Given the description of an element on the screen output the (x, y) to click on. 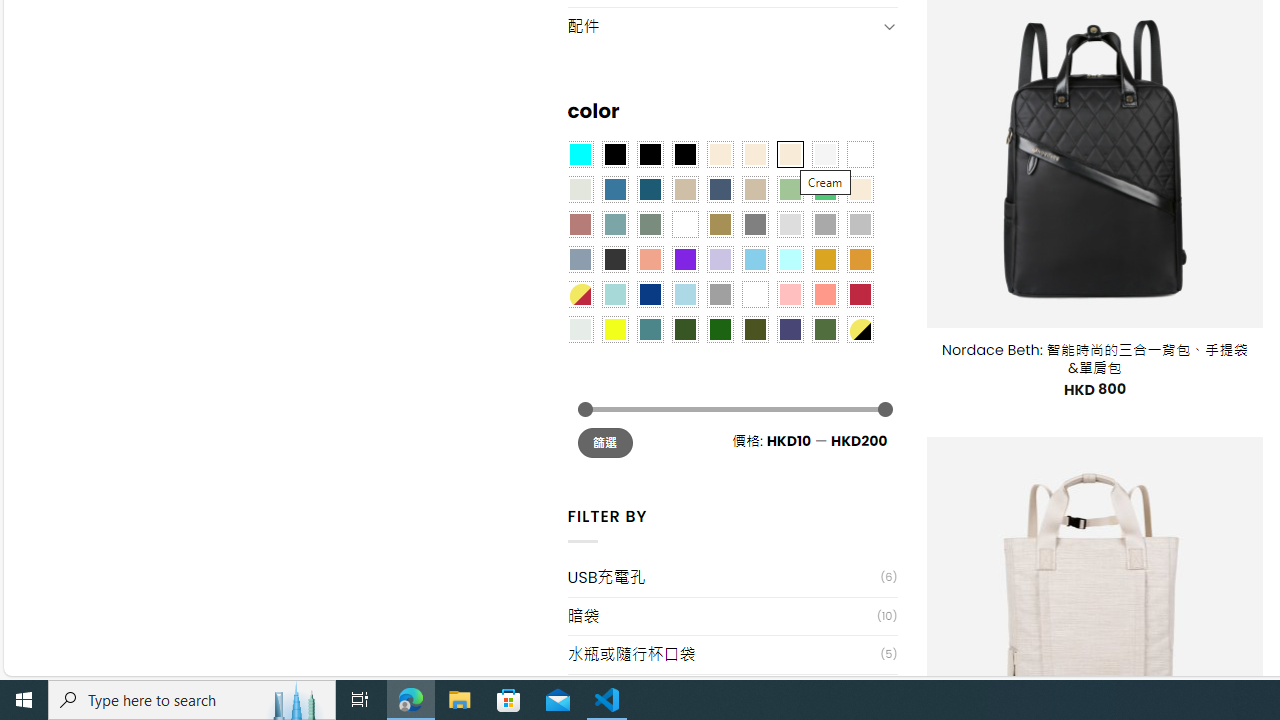
Cream (789, 154)
